Given the description of an element on the screen output the (x, y) to click on. 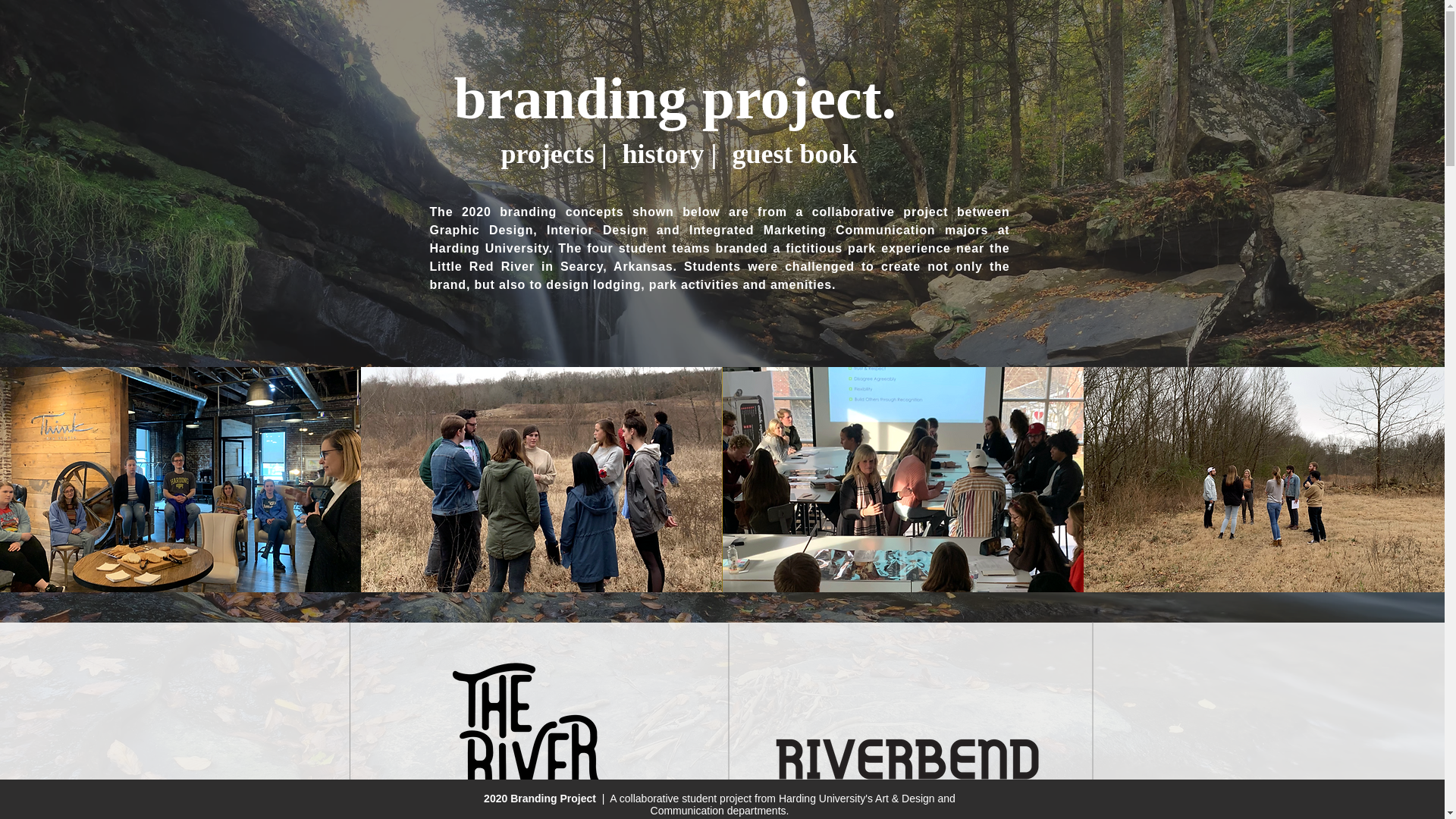
guest book (794, 154)
